Given the description of an element on the screen output the (x, y) to click on. 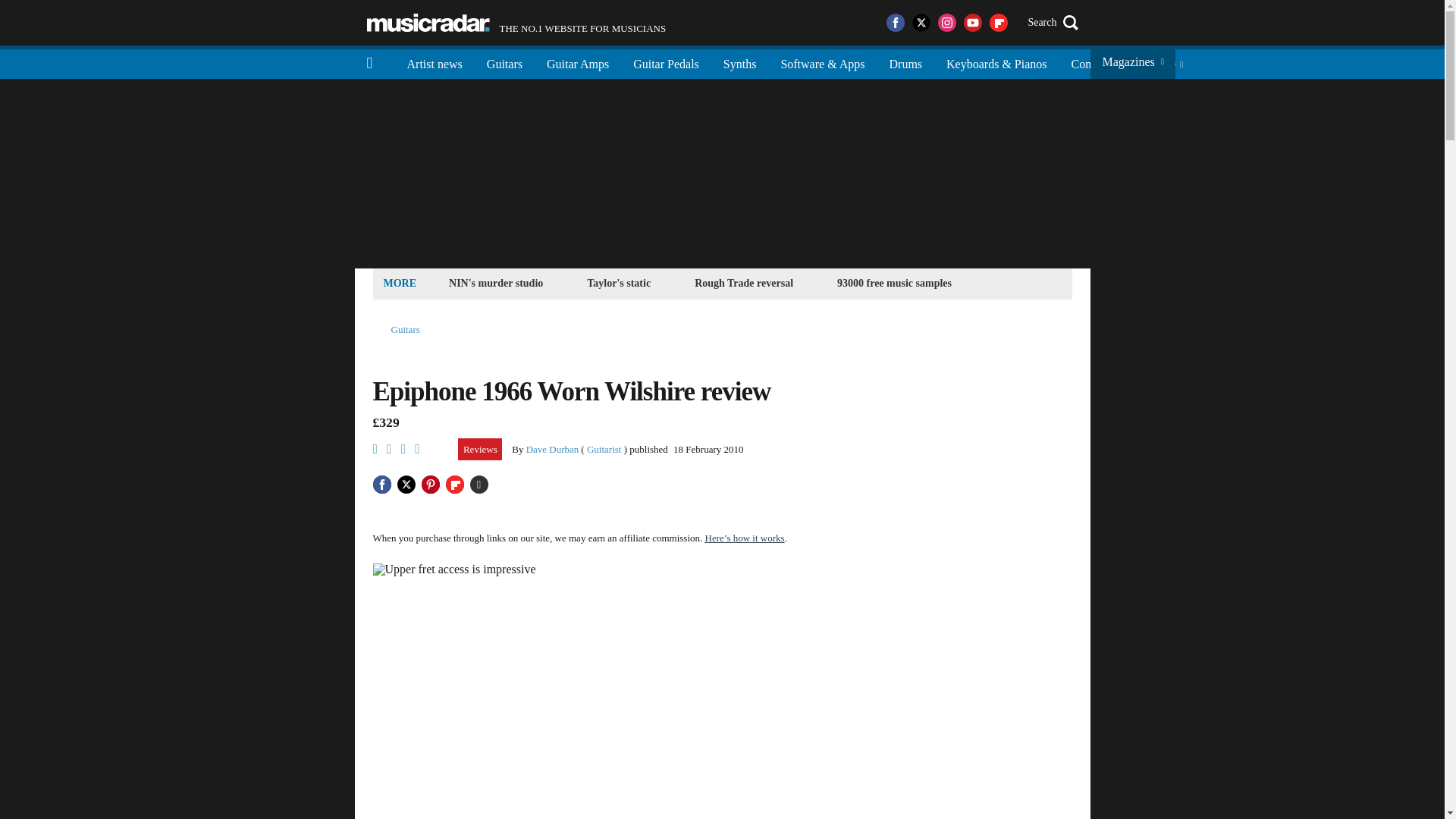
Music Radar (427, 22)
Artist news (434, 61)
Synths (739, 61)
Rough Trade reversal (742, 282)
Guitar Amps (577, 61)
Guitars (504, 61)
Guitars (405, 328)
Drums (516, 22)
93000 free music samples (905, 61)
